Given the description of an element on the screen output the (x, y) to click on. 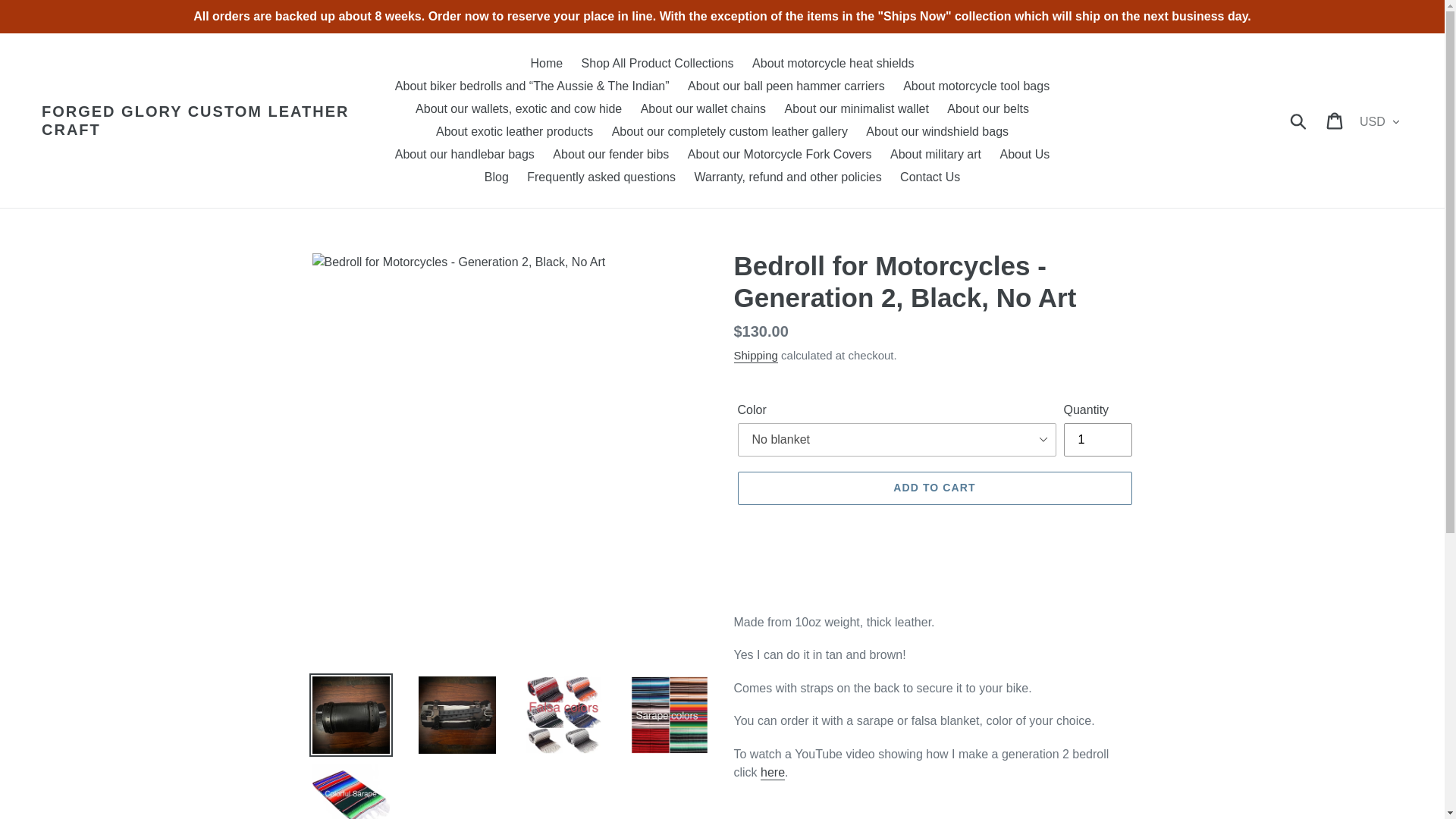
About our windshield bags (937, 131)
About motorcycle heat shields (832, 63)
About our wallets, exotic and cow hide (517, 108)
Cart (1335, 120)
Submit (1299, 120)
About our handlebar bags (464, 154)
About our minimalist wallet (856, 108)
FORGED GLORY CUSTOM LEATHER CRAFT (211, 120)
Frequently asked questions (600, 177)
Biker bedroll (772, 772)
